Given the description of an element on the screen output the (x, y) to click on. 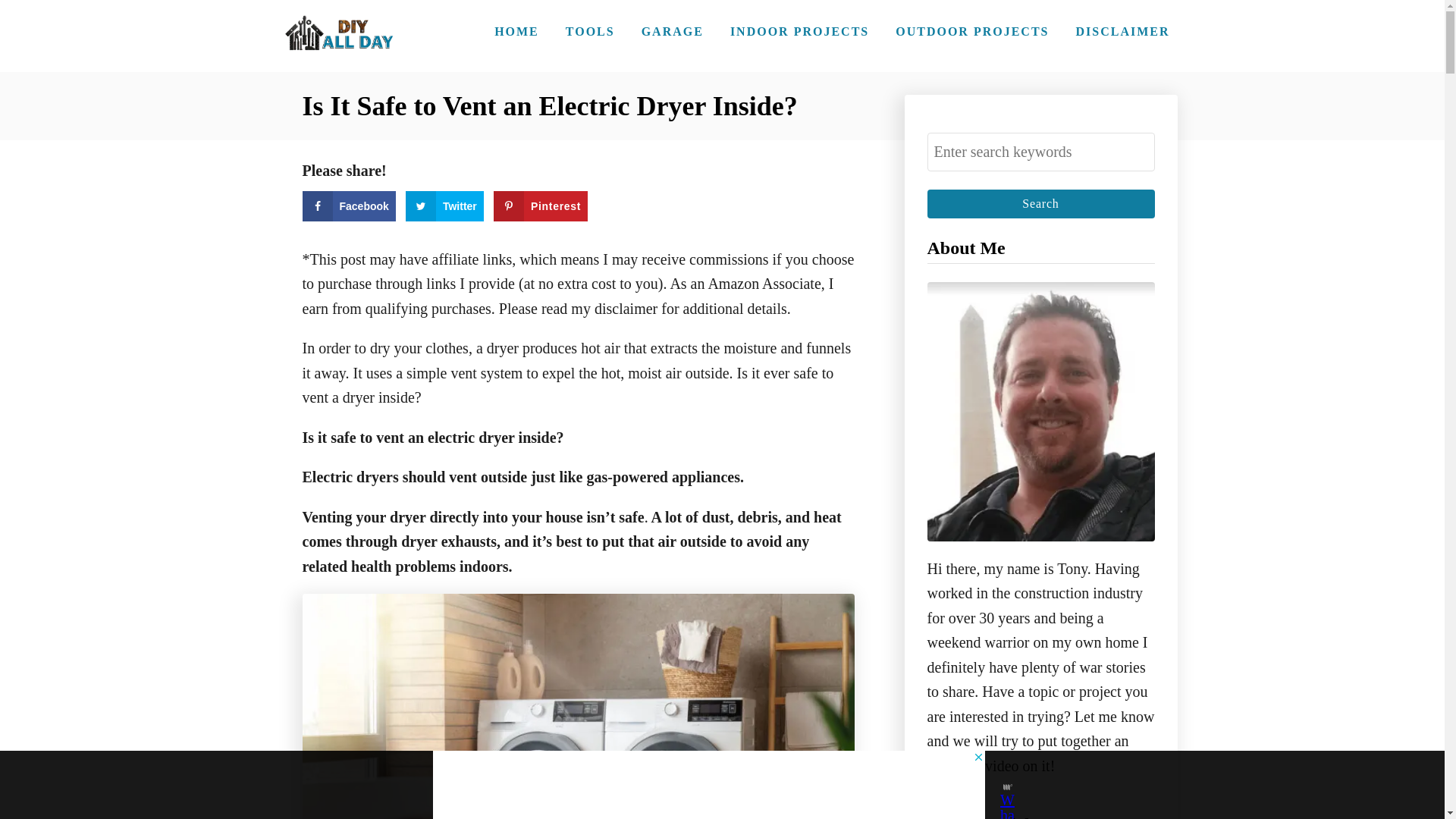
Search (1040, 203)
Pinterest (540, 205)
Facebook (347, 205)
DISCLAIMER (1121, 31)
GARAGE (672, 31)
Search (1040, 203)
Twitter (444, 205)
INDOOR PROJECTS (799, 31)
TOOLS (590, 31)
DIY All Day (339, 35)
OUTDOOR PROJECTS (972, 31)
Search (1040, 203)
HOME (516, 31)
Share on Facebook (347, 205)
Save to Pinterest (540, 205)
